Given the description of an element on the screen output the (x, y) to click on. 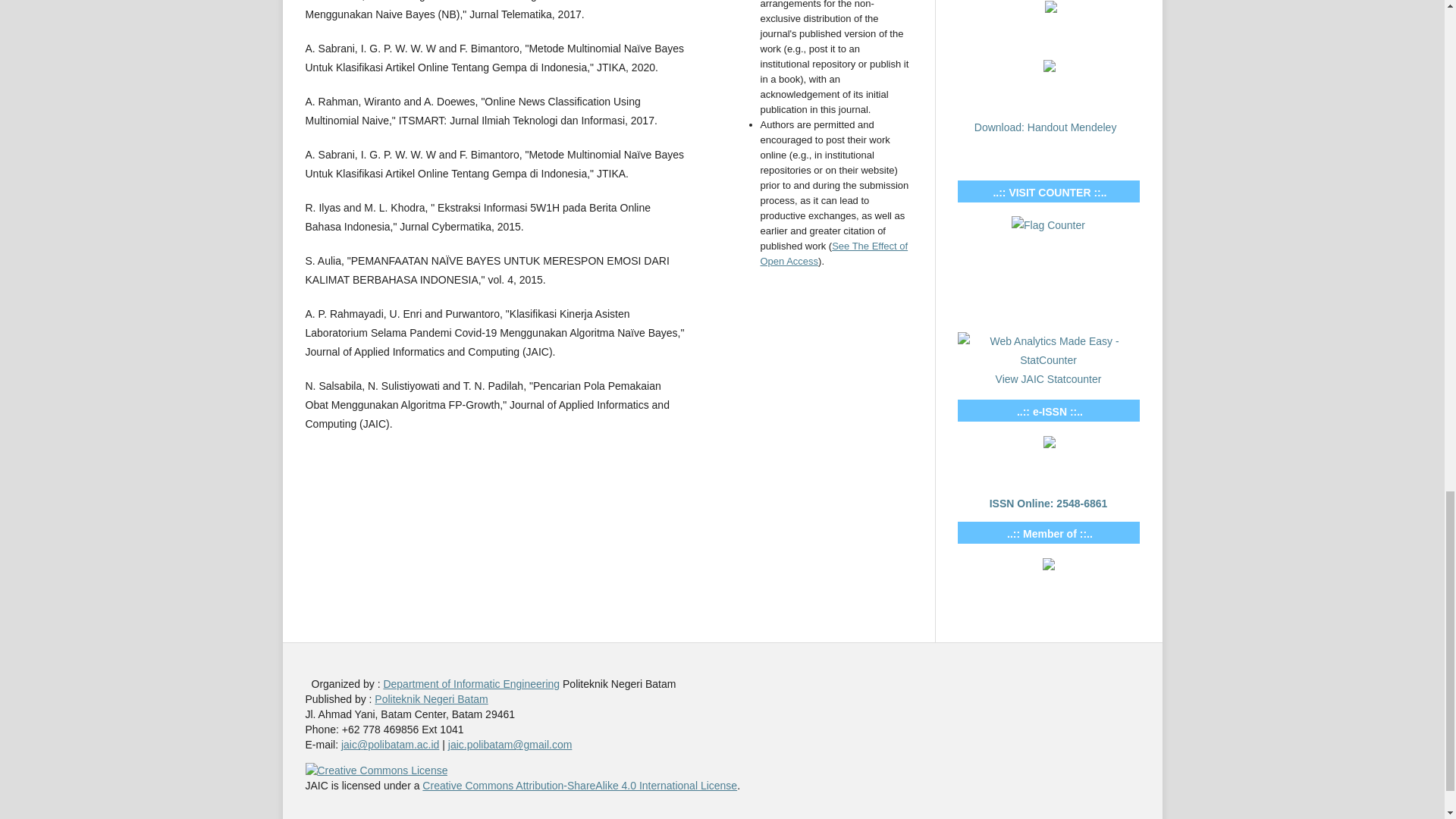
Grammarly (1049, 68)
Mendeley (1051, 9)
Web Analytics Made Easy - StatCounter (1047, 358)
Member of (1048, 566)
